Given the description of an element on the screen output the (x, y) to click on. 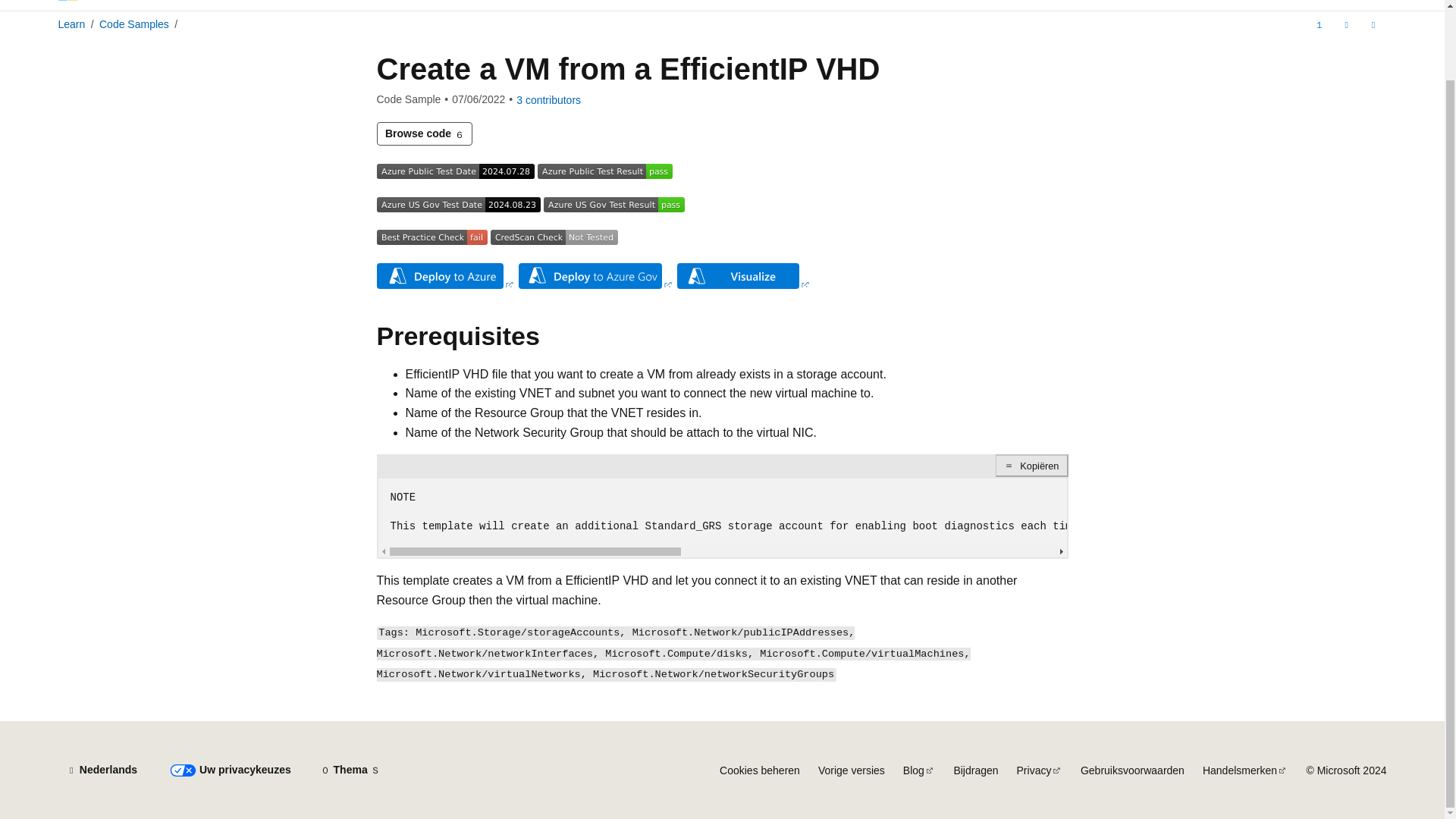
Learn (71, 24)
Onderwerpen (534, 5)
Lezen in het Engels (1319, 24)
Learn (123, 2)
3 contributors (548, 100)
Meer acties (1372, 24)
Aanmelden (1360, 0)
Productdocumentatie (302, 5)
Lezen in het Engels (1319, 24)
Ontwikkelingstalen (427, 5)
